Given the description of an element on the screen output the (x, y) to click on. 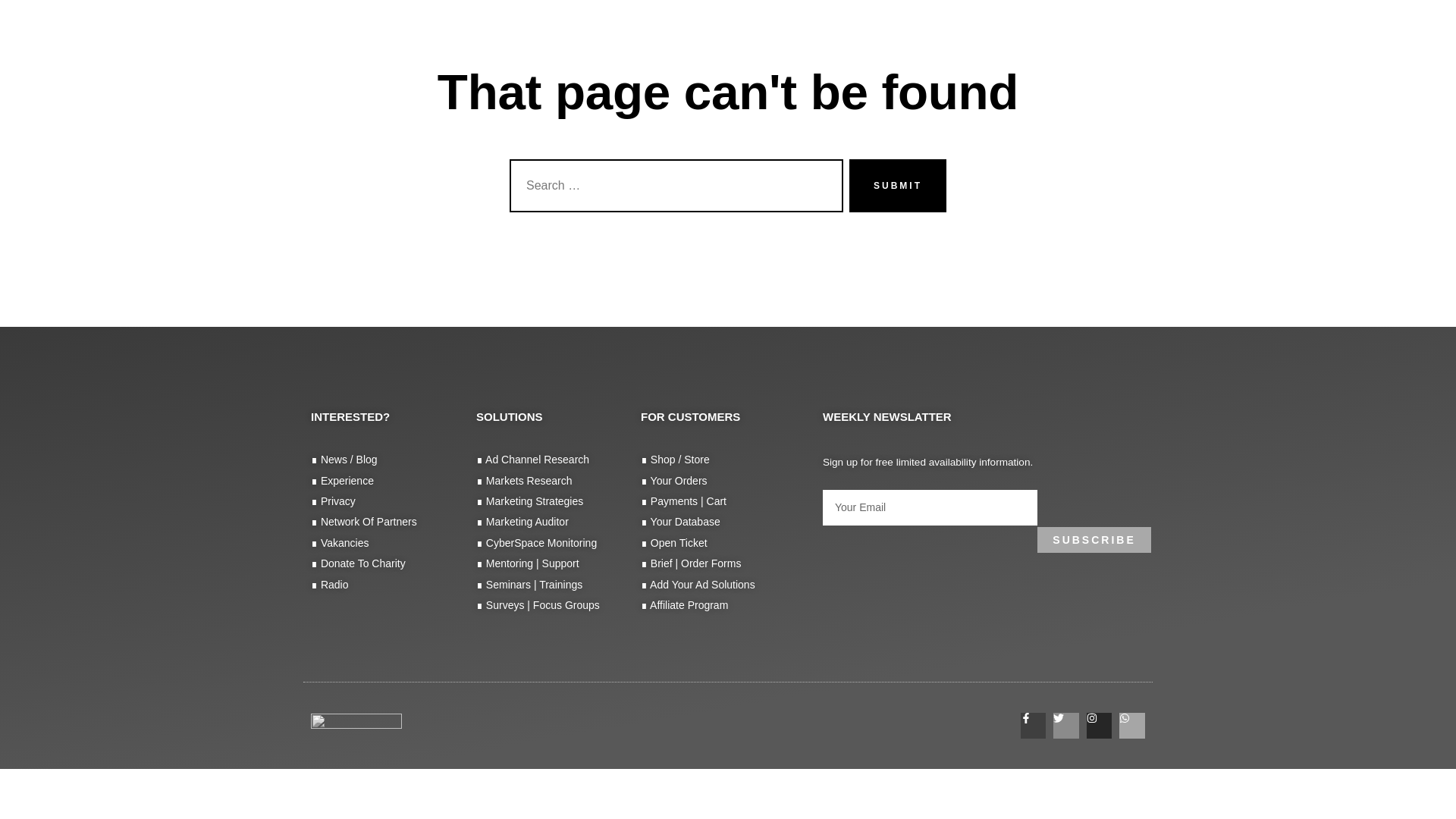
SUBMIT (897, 185)
